Given the description of an element on the screen output the (x, y) to click on. 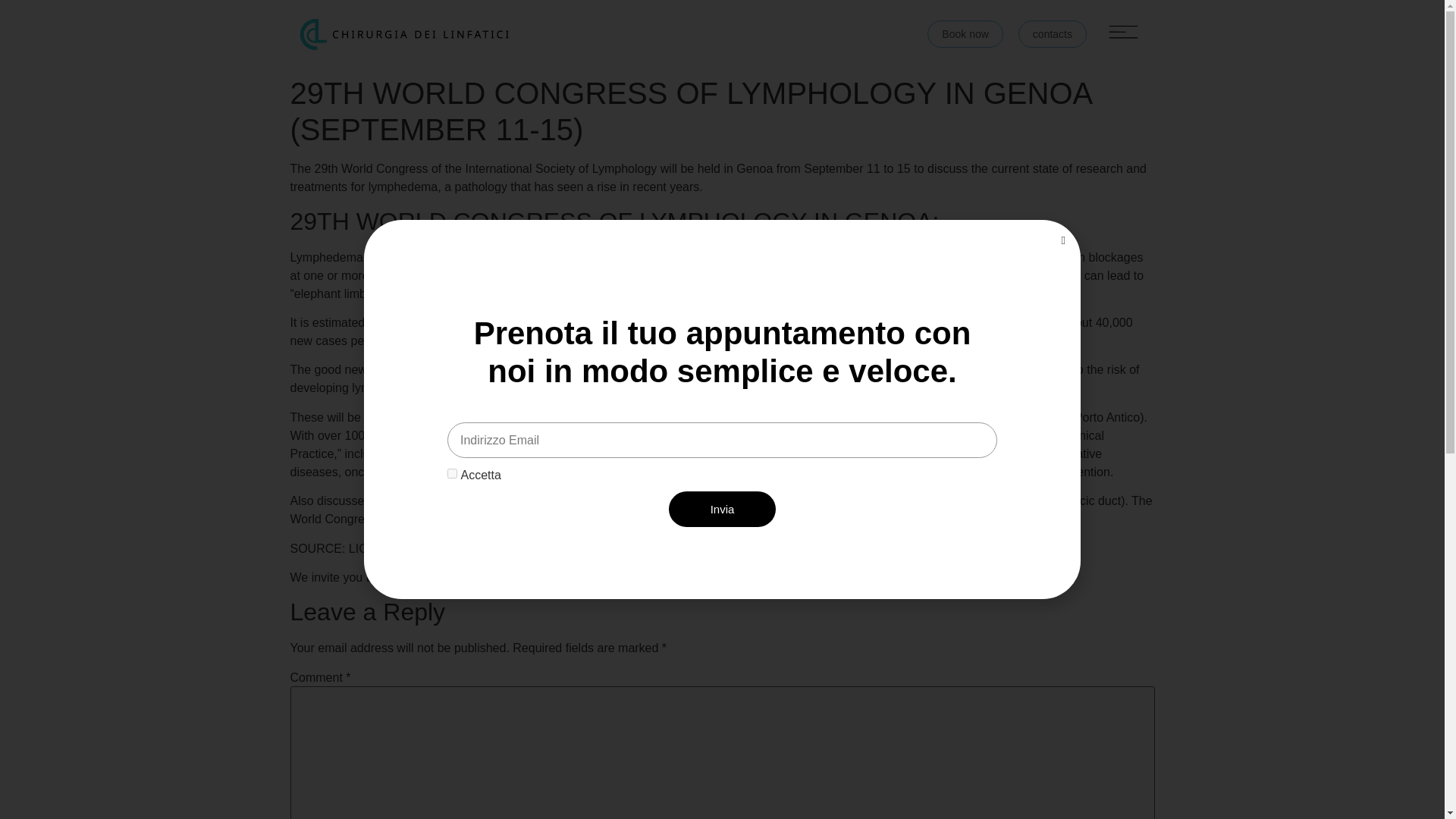
Lymphaticsrgery (521, 576)
Invia (722, 509)
Book now (965, 33)
contacts (1051, 33)
on (451, 473)
